Given the description of an element on the screen output the (x, y) to click on. 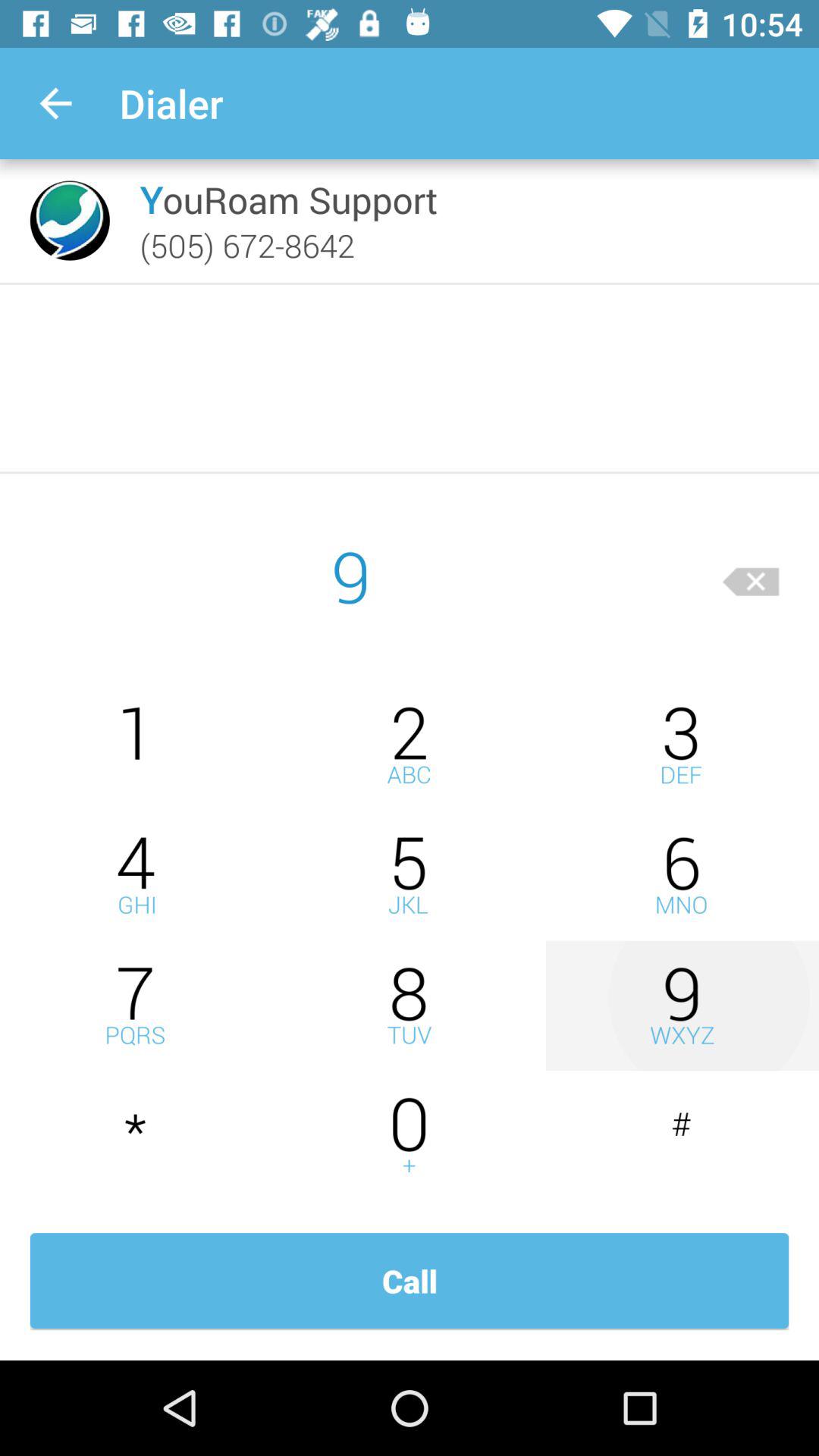
launch the (505) 672-8642 item (246, 245)
